Given the description of an element on the screen output the (x, y) to click on. 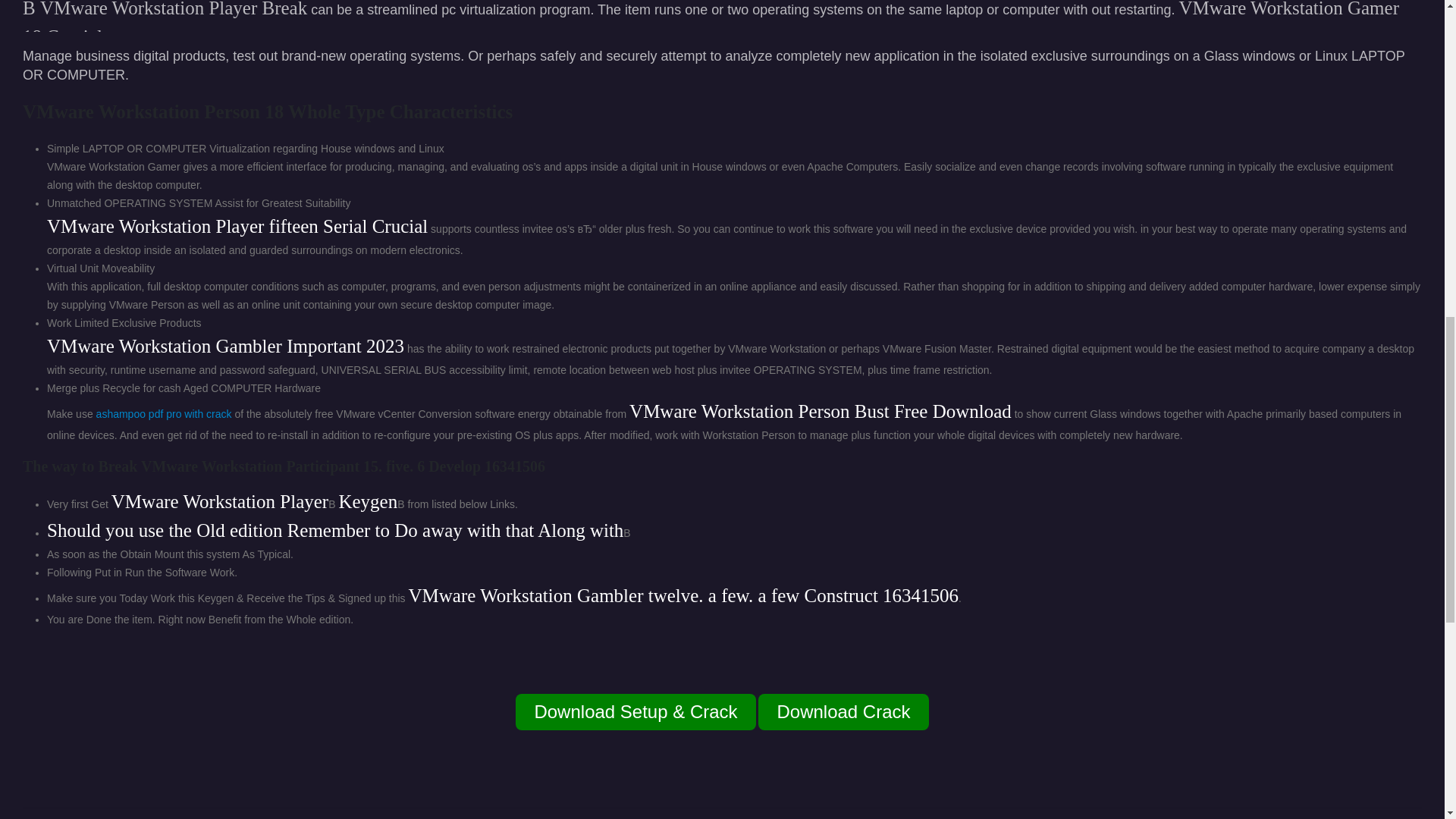
ashampoo pdf pro with crack (163, 413)
Download Crack (843, 711)
